Given the description of an element on the screen output the (x, y) to click on. 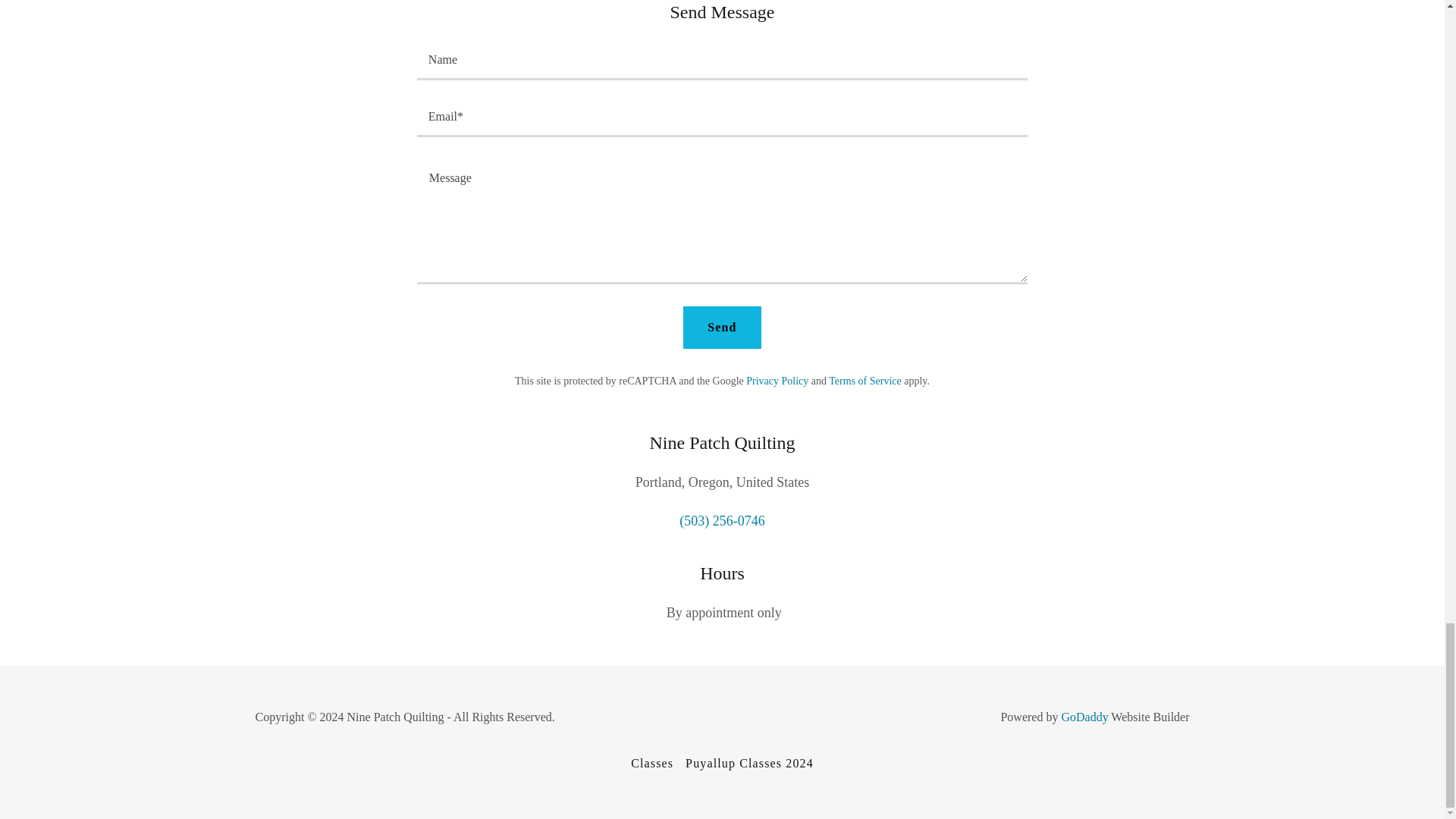
Privacy Policy (776, 380)
Send (721, 327)
Terms of Service (864, 380)
Classes (651, 763)
Puyallup Classes 2024 (749, 763)
GoDaddy (1084, 716)
